Given the description of an element on the screen output the (x, y) to click on. 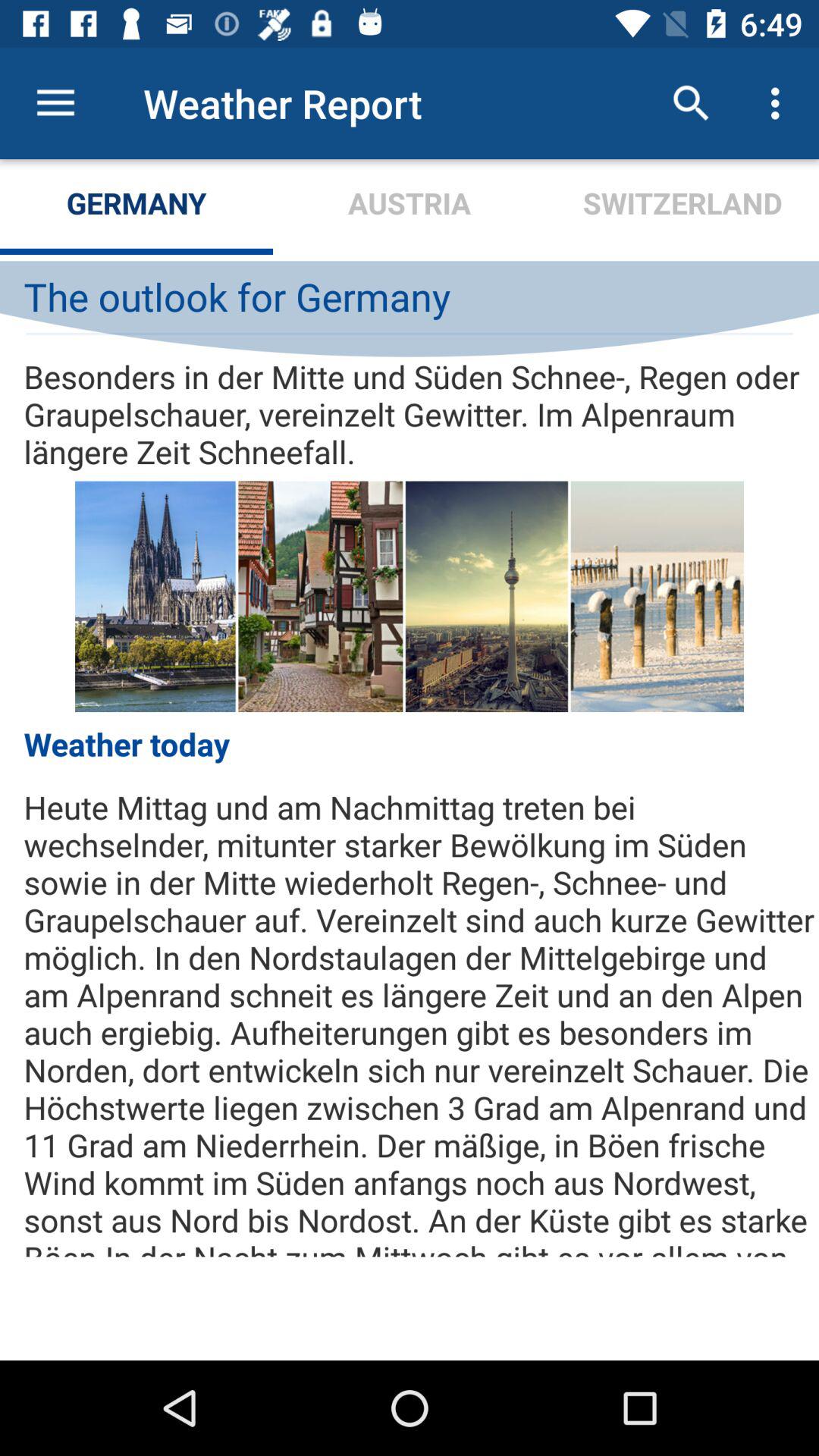
click icon to the left of switzerland icon (409, 206)
